Given the description of an element on the screen output the (x, y) to click on. 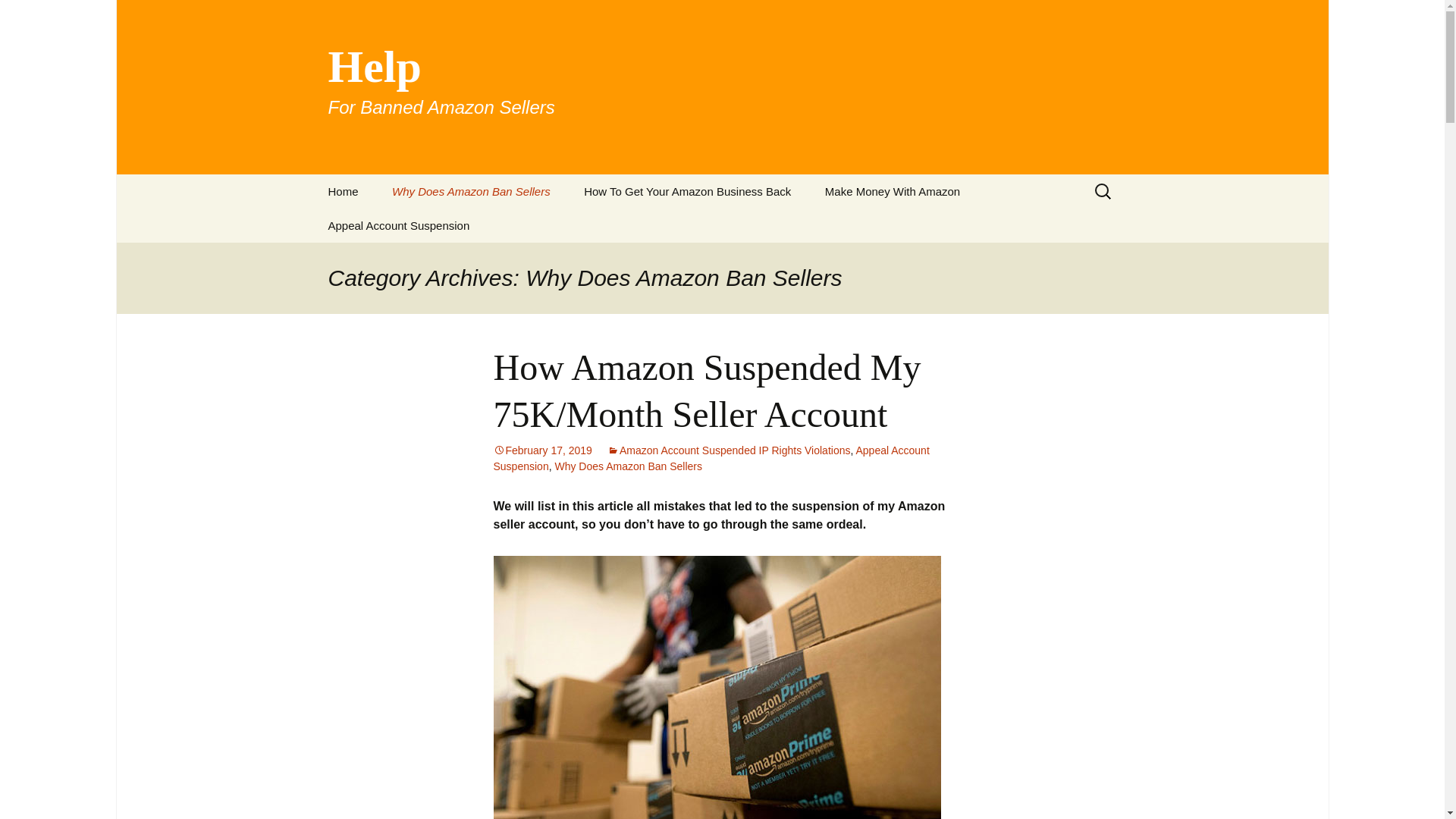
Amazon Account Suspended IP Rights Violations (728, 450)
Why Does Amazon Ban Sellers (471, 191)
February 17, 2019 (542, 450)
Home (342, 191)
How To Get Your Amazon Business Back (687, 191)
Appeal Account Suspension (627, 466)
Appeal Account Suspension (710, 458)
Skip to content (398, 225)
Search (892, 191)
